Given the description of an element on the screen output the (x, y) to click on. 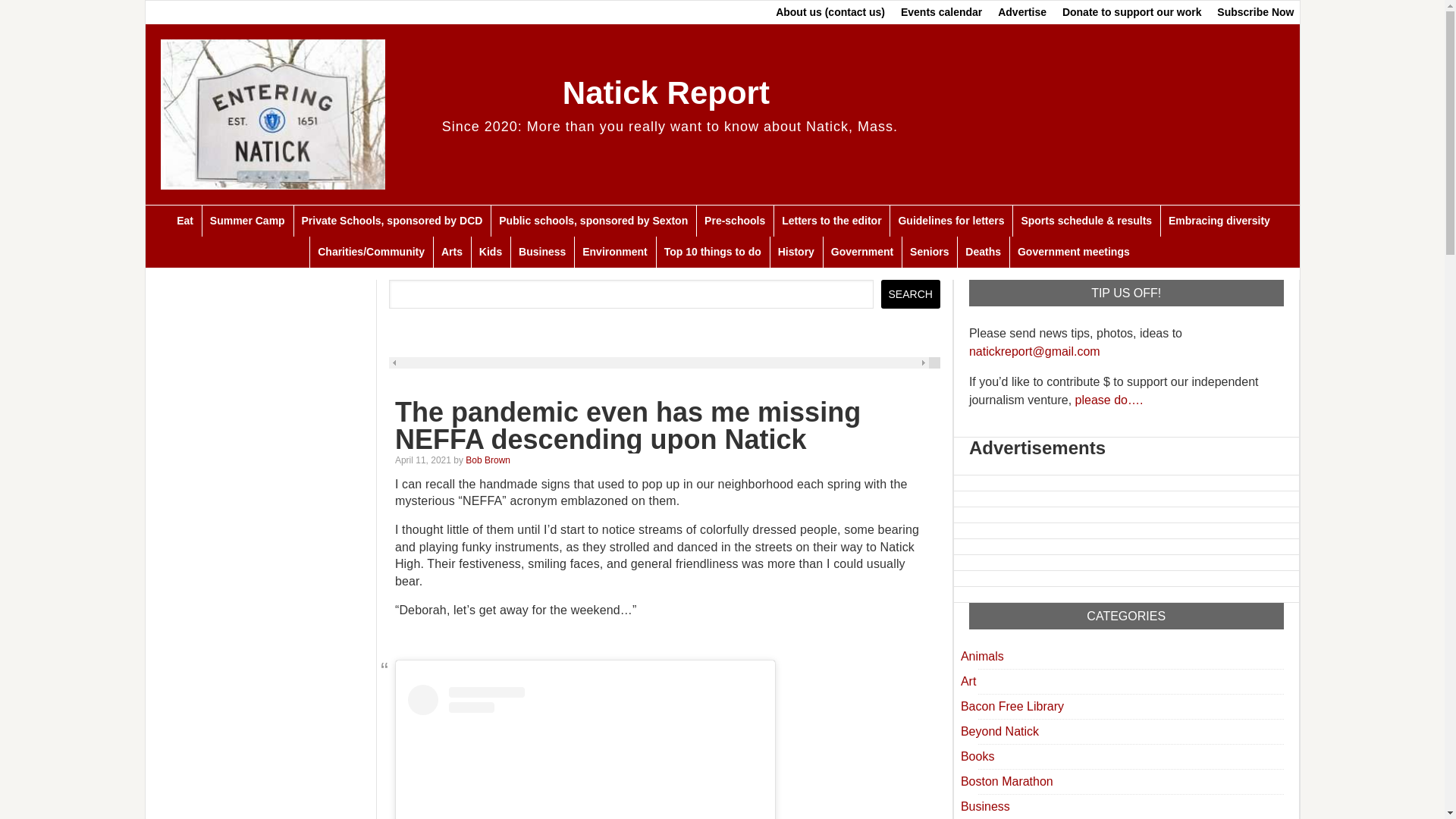
Eat (184, 220)
Pre-schools (734, 220)
Animals (982, 656)
SEARCH (910, 294)
View this post on Instagram (584, 751)
Bob Brown (488, 460)
Events calendar (941, 12)
Seniors (928, 251)
Deaths (982, 251)
Guidelines for letters (950, 220)
